Given the description of an element on the screen output the (x, y) to click on. 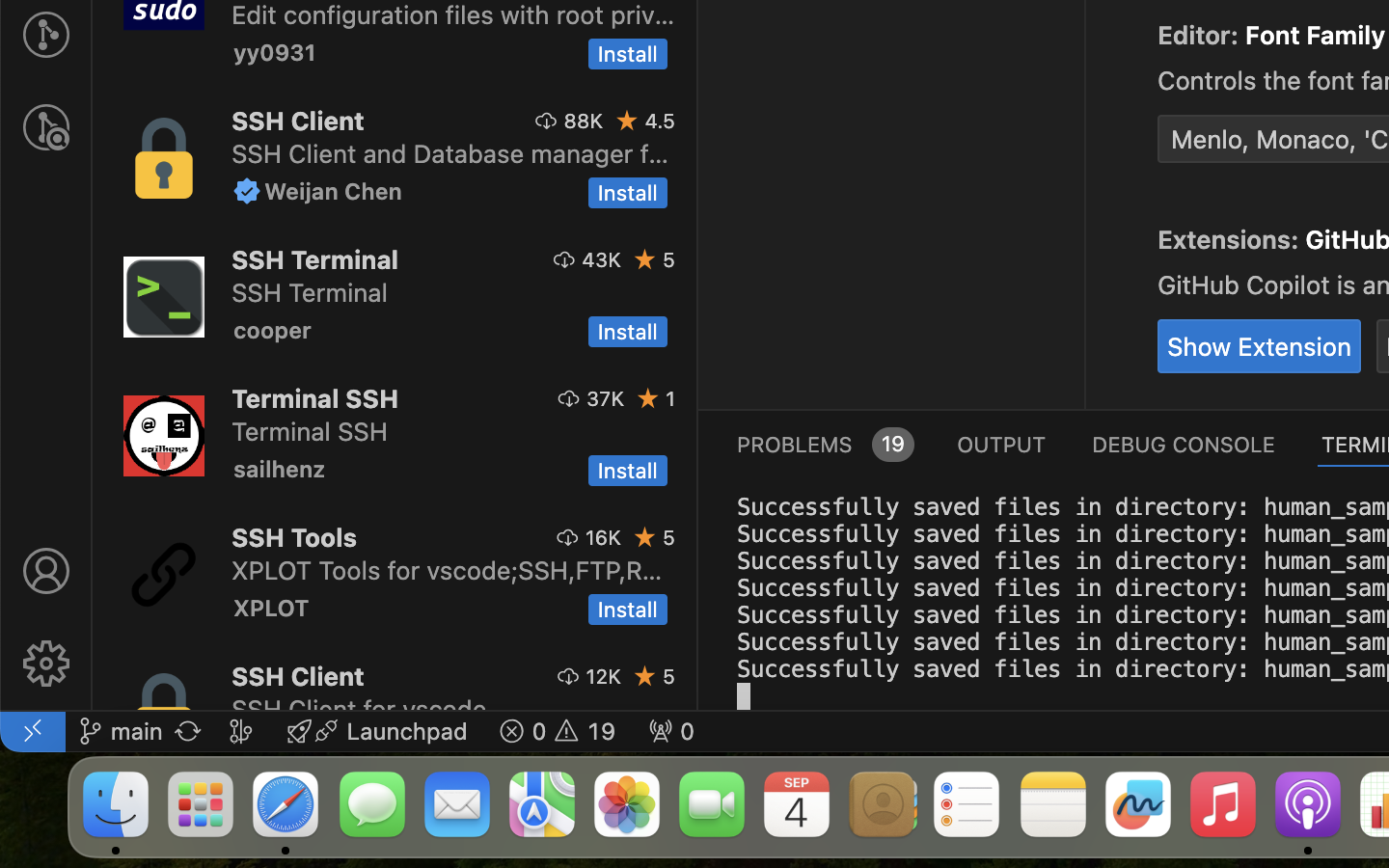
Weijan Chen Element type: AXStaticText (333, 190)
yy0931 Element type: AXStaticText (274, 51)
 Element type: AXStaticText (246, 190)
main  Element type: AXButton (120, 730)
37K Element type: AXStaticText (605, 397)
